Given the description of an element on the screen output the (x, y) to click on. 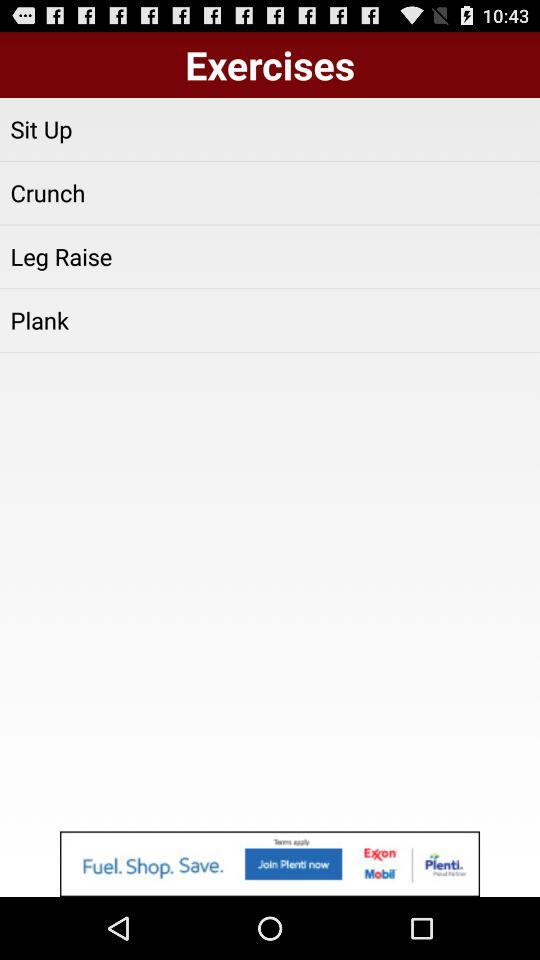
view advertisement (270, 864)
